Given the description of an element on the screen output the (x, y) to click on. 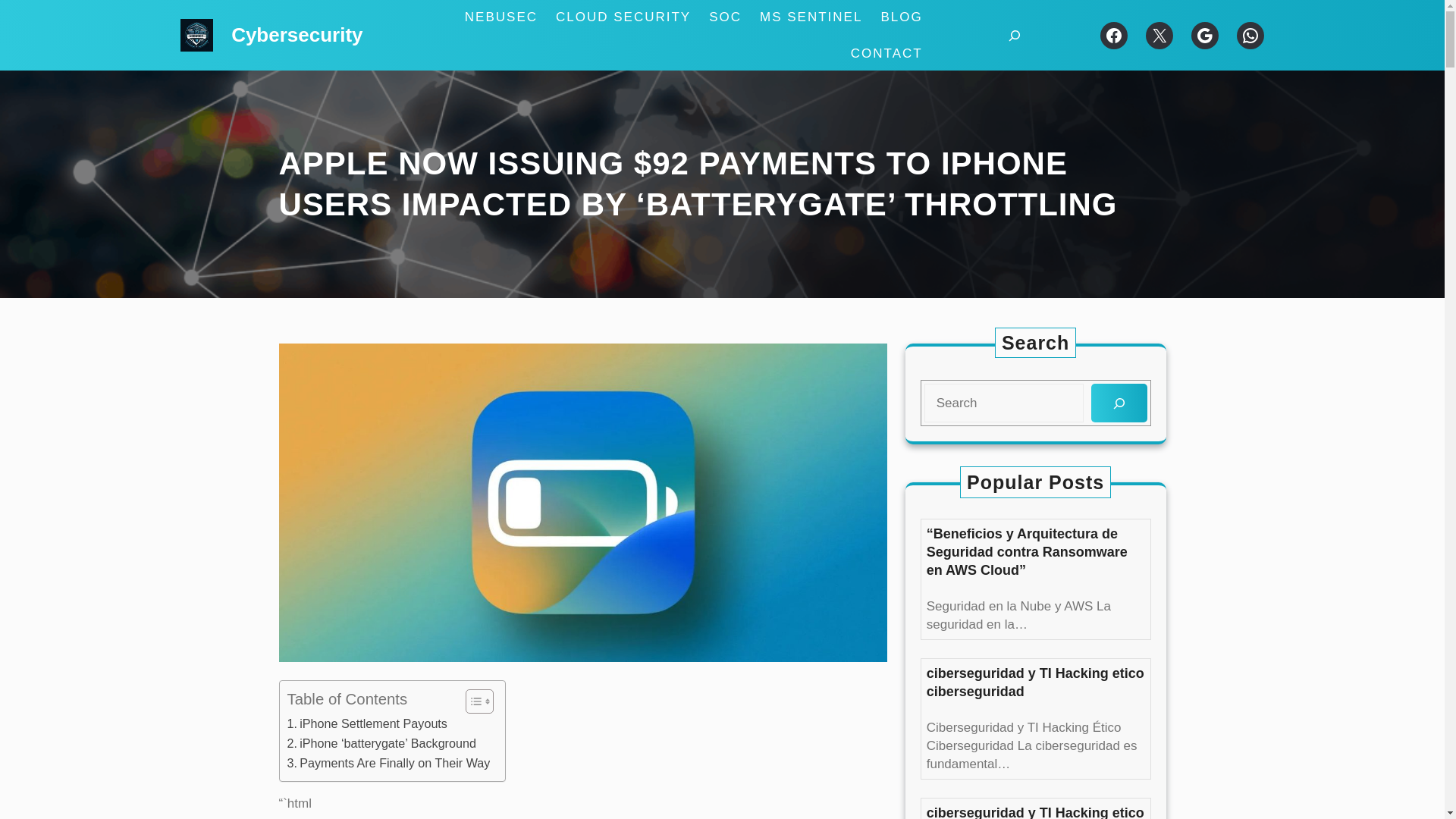
SOC (725, 17)
ciberseguridad y TI Hacking etico ciberseguridad (1035, 682)
NEBUSEC (500, 17)
CLOUD SECURITY (623, 17)
Google (1204, 35)
WhatsApp (1249, 35)
ciberseguridad y TI Hacking etico ciberseguridad (1035, 811)
Payments Are Finally on Their Way (387, 763)
Cybersecurity (296, 34)
Payments Are Finally on Their Way (387, 763)
iPhone Settlement Payouts (366, 723)
CONTACT (886, 54)
Facebook (1113, 35)
MS SENTINEL (810, 17)
iPhone Settlement Payouts (366, 723)
